Given the description of an element on the screen output the (x, y) to click on. 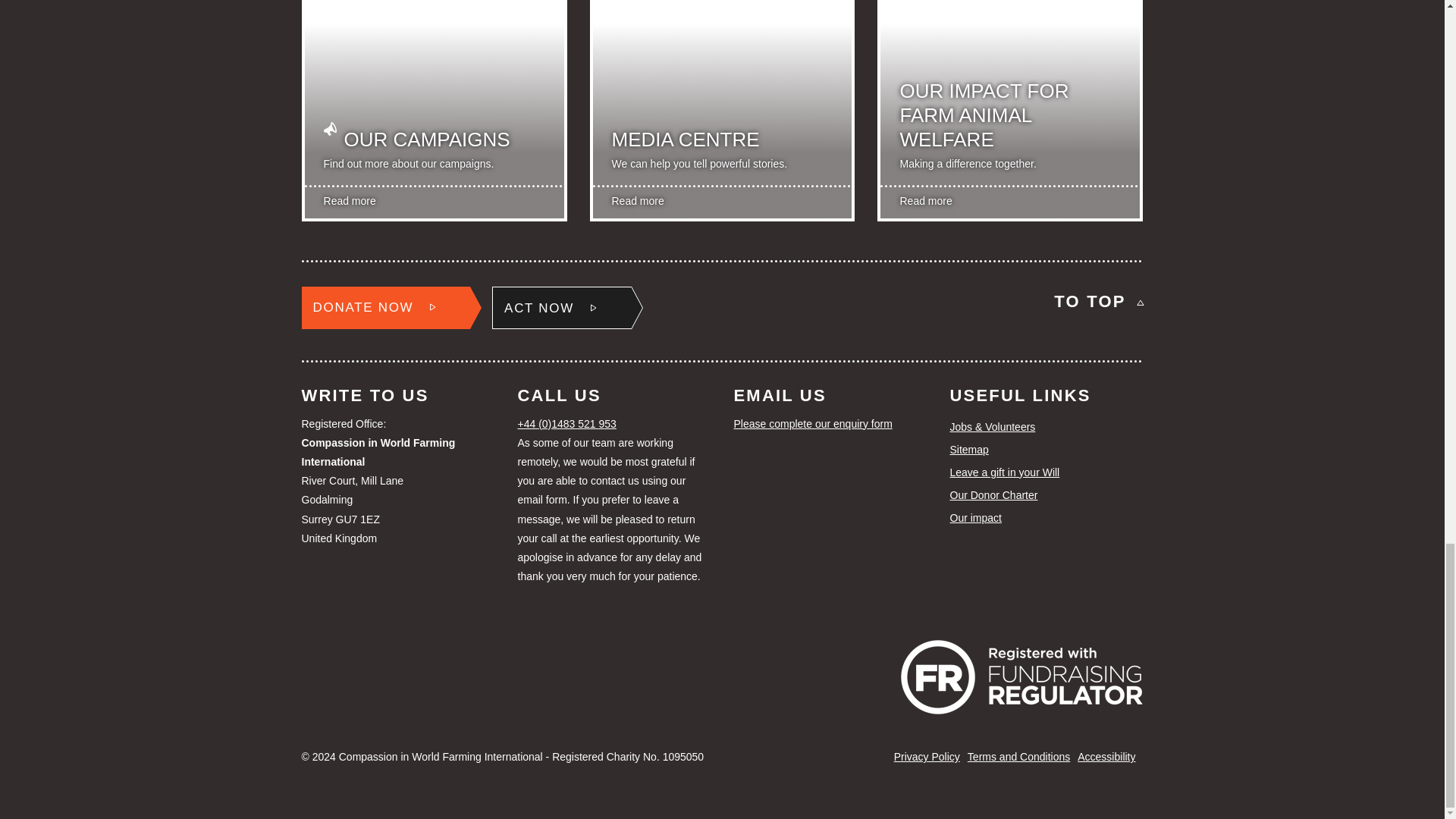
TO TOP (1098, 301)
DONATE NOW (385, 307)
Please complete our enquiry form (830, 424)
Our impact (1045, 517)
TO TOP (1098, 301)
Our Donor Charter (1045, 495)
ACT NOW (561, 307)
Sitemap (1045, 449)
